Given the description of an element on the screen output the (x, y) to click on. 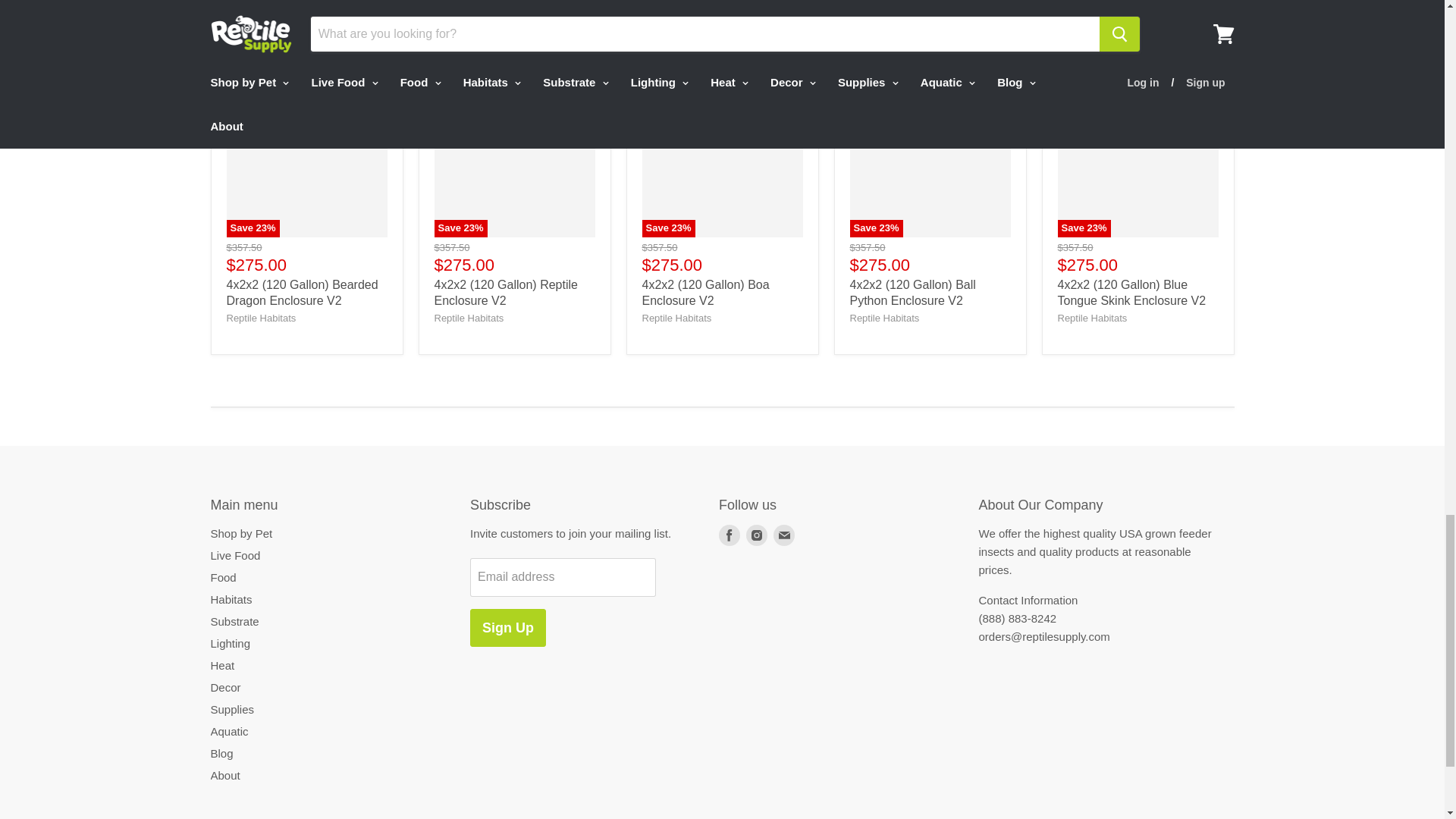
Facebook (729, 534)
Instagram (756, 534)
E-mail (783, 534)
